Given the description of an element on the screen output the (x, y) to click on. 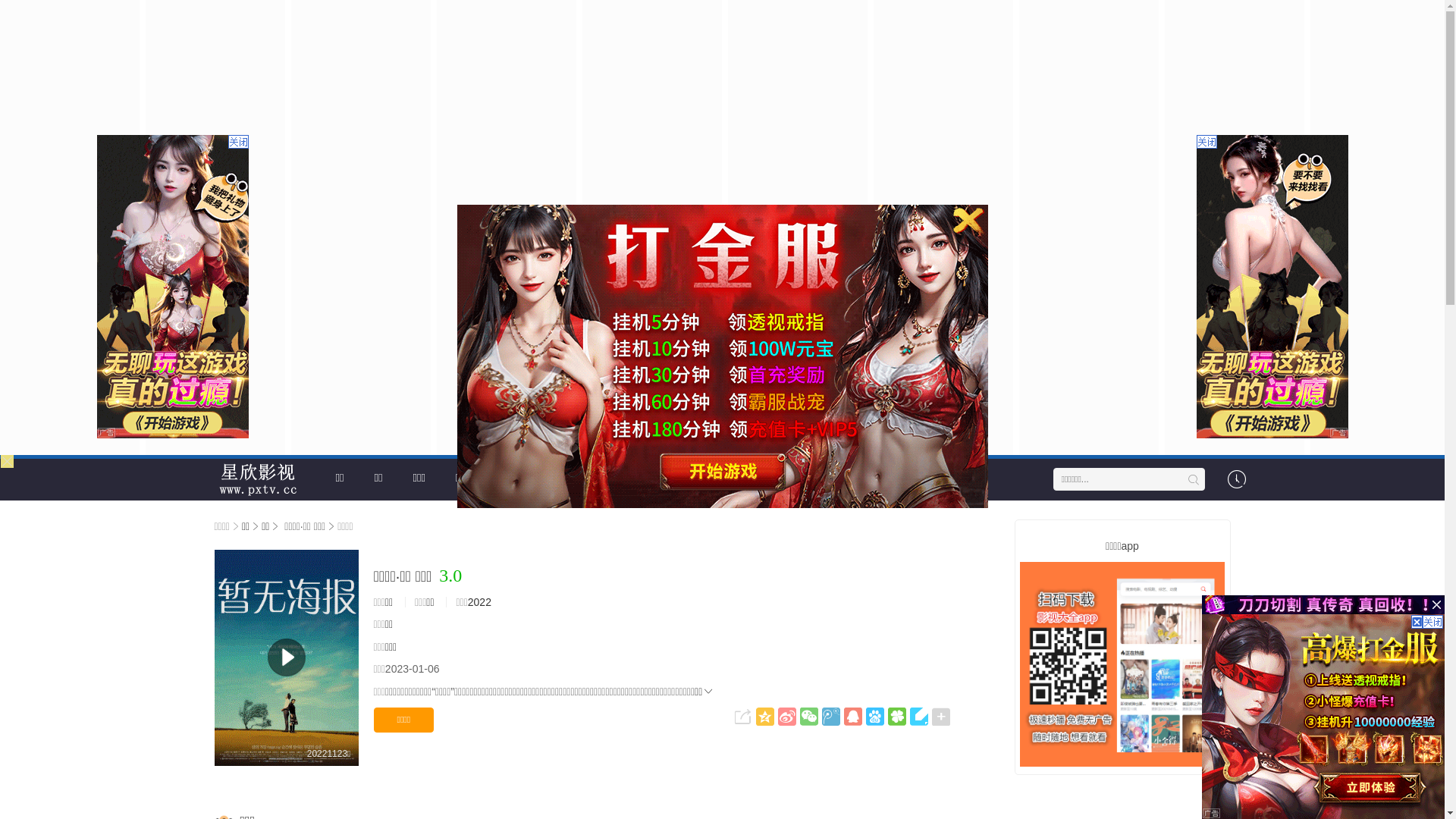
2022 Element type: text (479, 602)
